Given the description of an element on the screen output the (x, y) to click on. 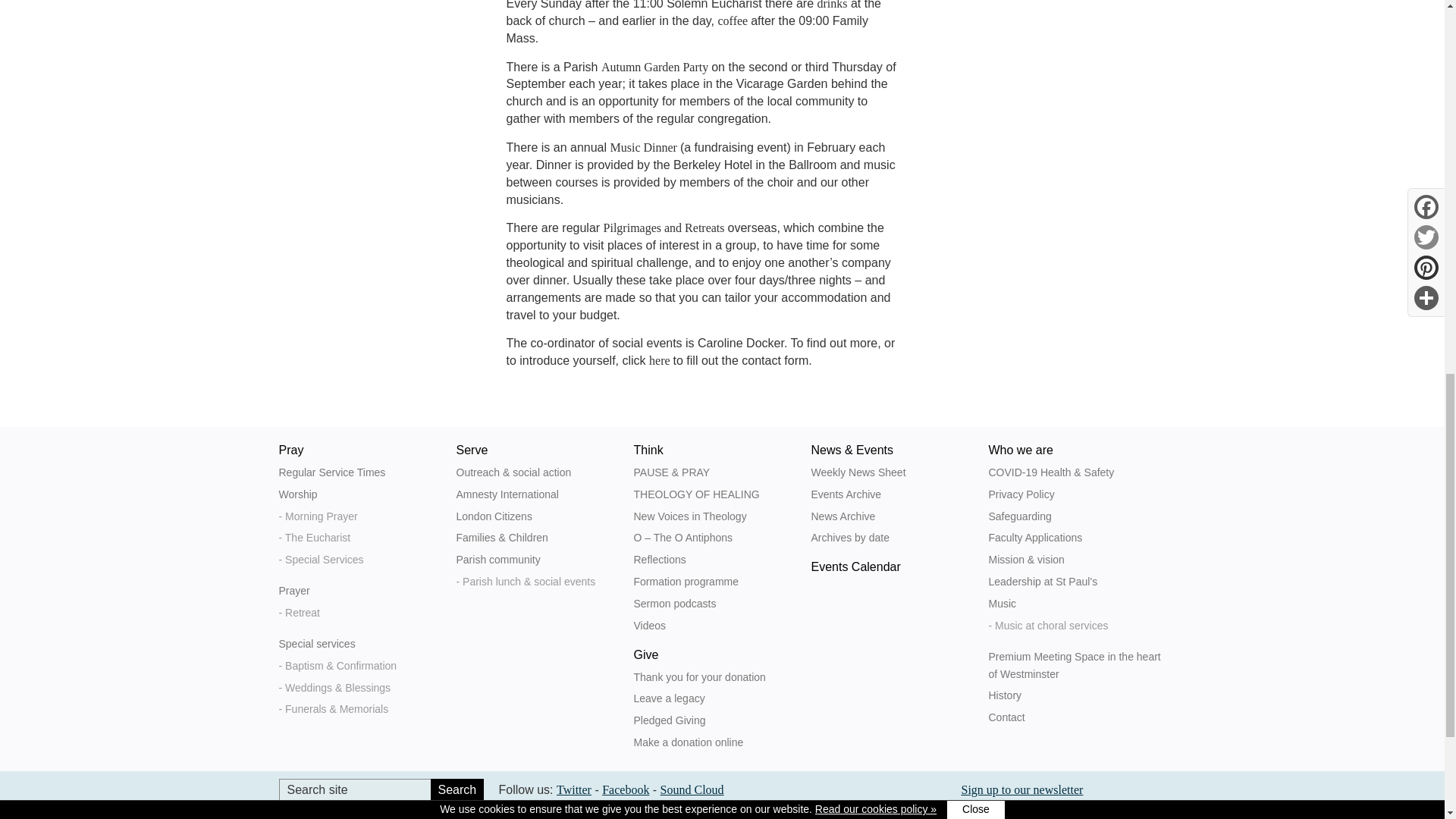
Search (456, 789)
Search (456, 789)
